Given the description of an element on the screen output the (x, y) to click on. 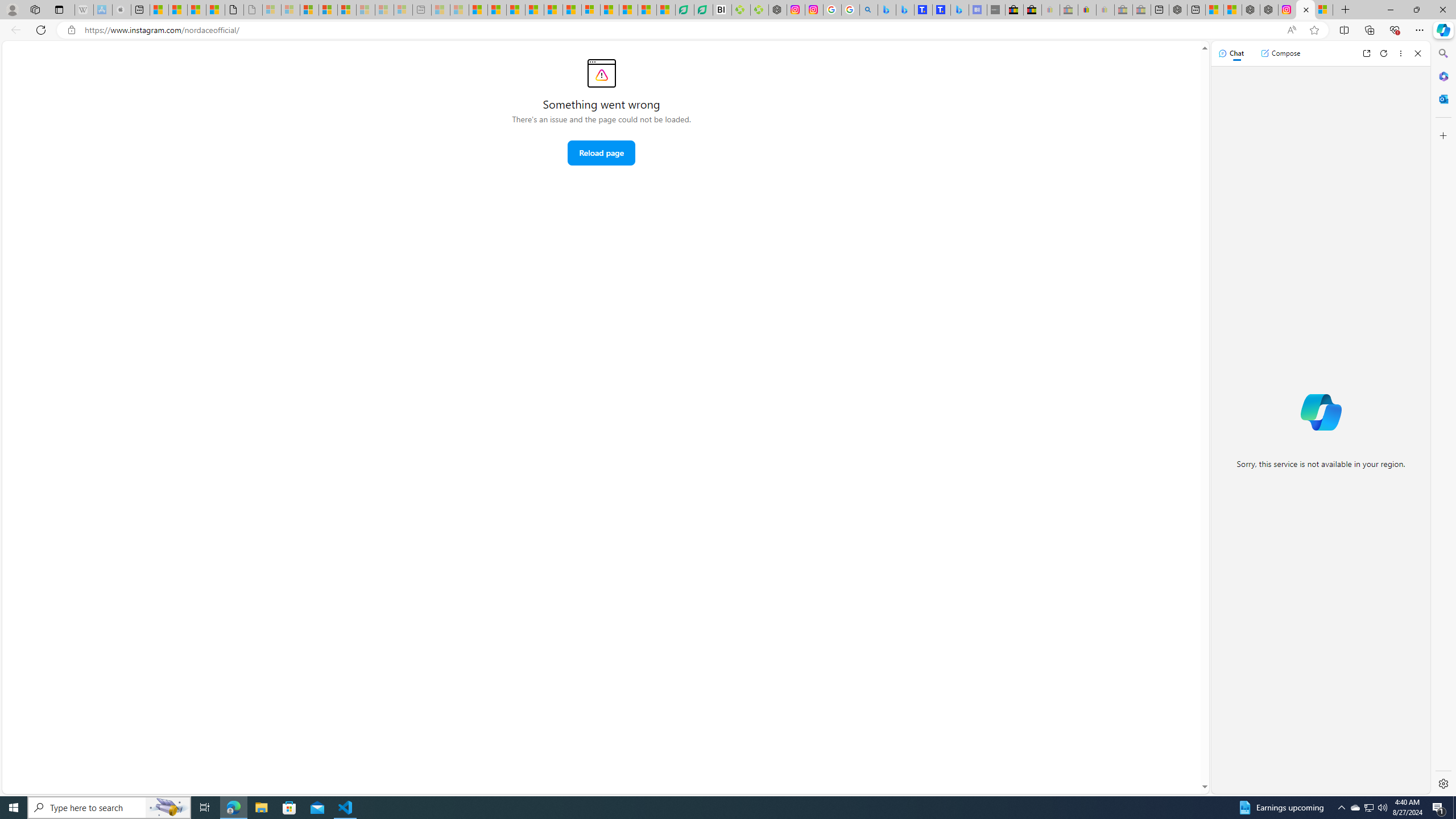
Aberdeen, Hong Kong SAR severe weather | Microsoft Weather (215, 9)
alabama high school quarterback dies - Search (868, 9)
Threats and offensive language policy | eBay (1086, 9)
Press Room - eBay Inc. - Sleeping (1123, 9)
Sign in to your Microsoft account (1324, 9)
Microsoft account | Account Checkup - Sleeping (402, 9)
Top Stories - MSN - Sleeping (440, 9)
Wikipedia - Sleeping (84, 9)
